Given the description of an element on the screen output the (x, y) to click on. 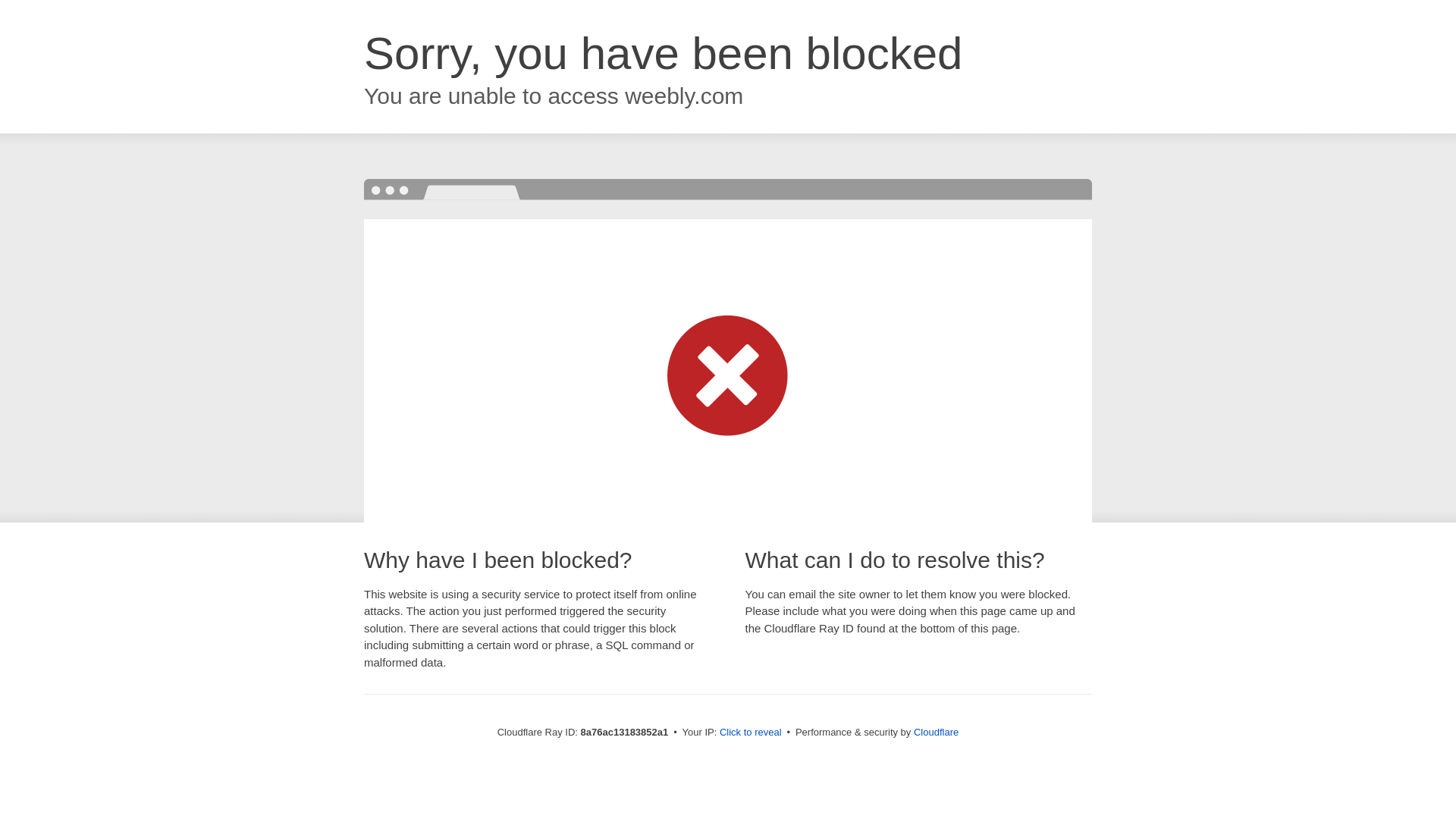
Cloudflare (936, 731)
Click to reveal (750, 732)
